Given the description of an element on the screen output the (x, y) to click on. 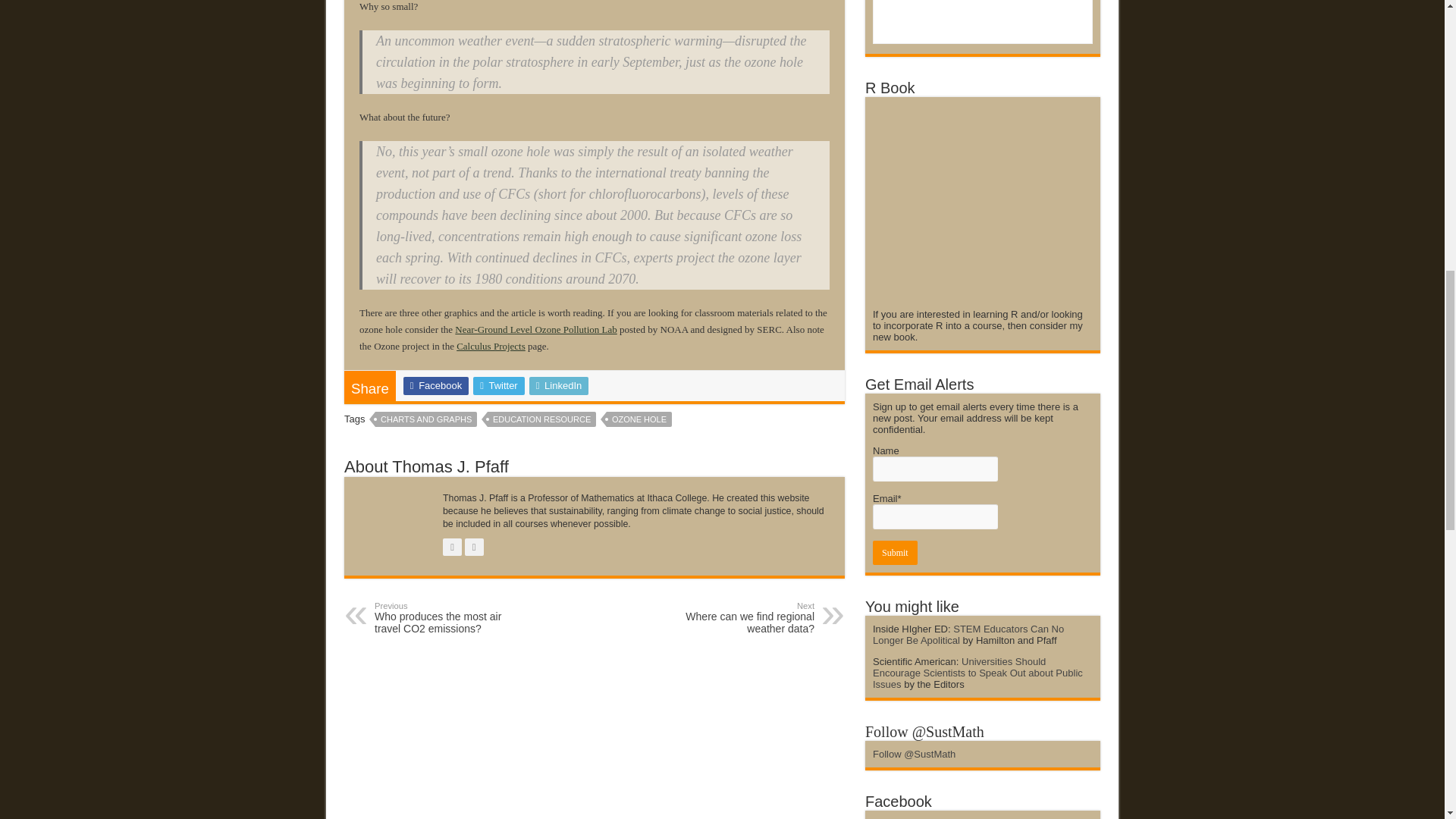
Scroll To Top (1421, 60)
Submit (894, 552)
Calculus Projects (491, 346)
Twitter (498, 385)
Near-Ground Level Ozone Pollution Lab (534, 328)
Facebook (435, 385)
